Given the description of an element on the screen output the (x, y) to click on. 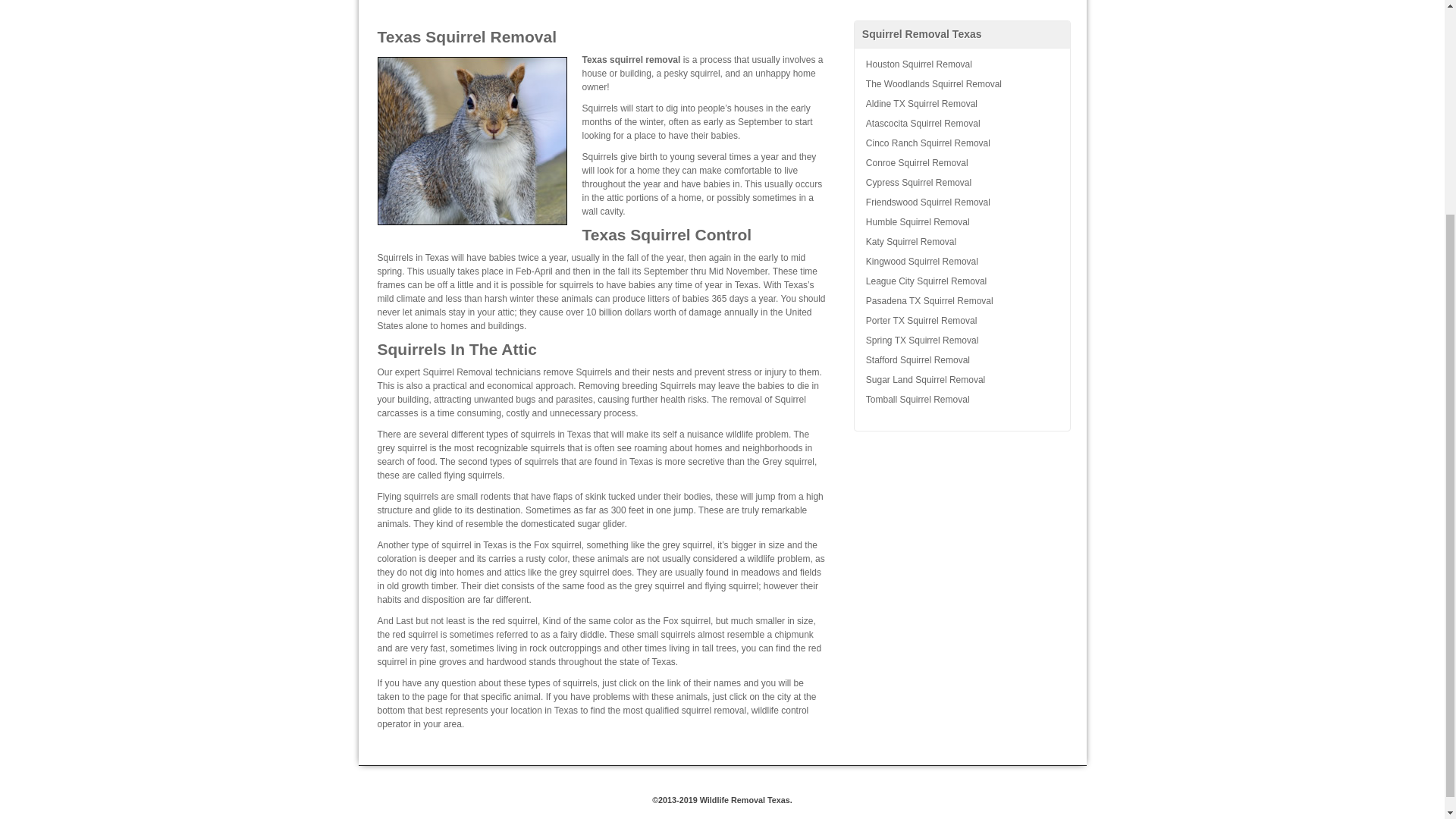
Pasadena TX Squirrel Removal (962, 301)
Stafford Squirrel Removal (962, 360)
Houston Squirrel Removal (962, 64)
Sugar Land Squirrel Removal (962, 379)
Aldine TX Squirrel Removal (962, 103)
Texas Squirrel Removal (472, 140)
The Woodlands Squirrel Removal (962, 84)
Kingwood Squirrel Removal (962, 261)
Humble Squirrel Removal (962, 221)
Katy Squirrel Removal (962, 241)
